Given the description of an element on the screen output the (x, y) to click on. 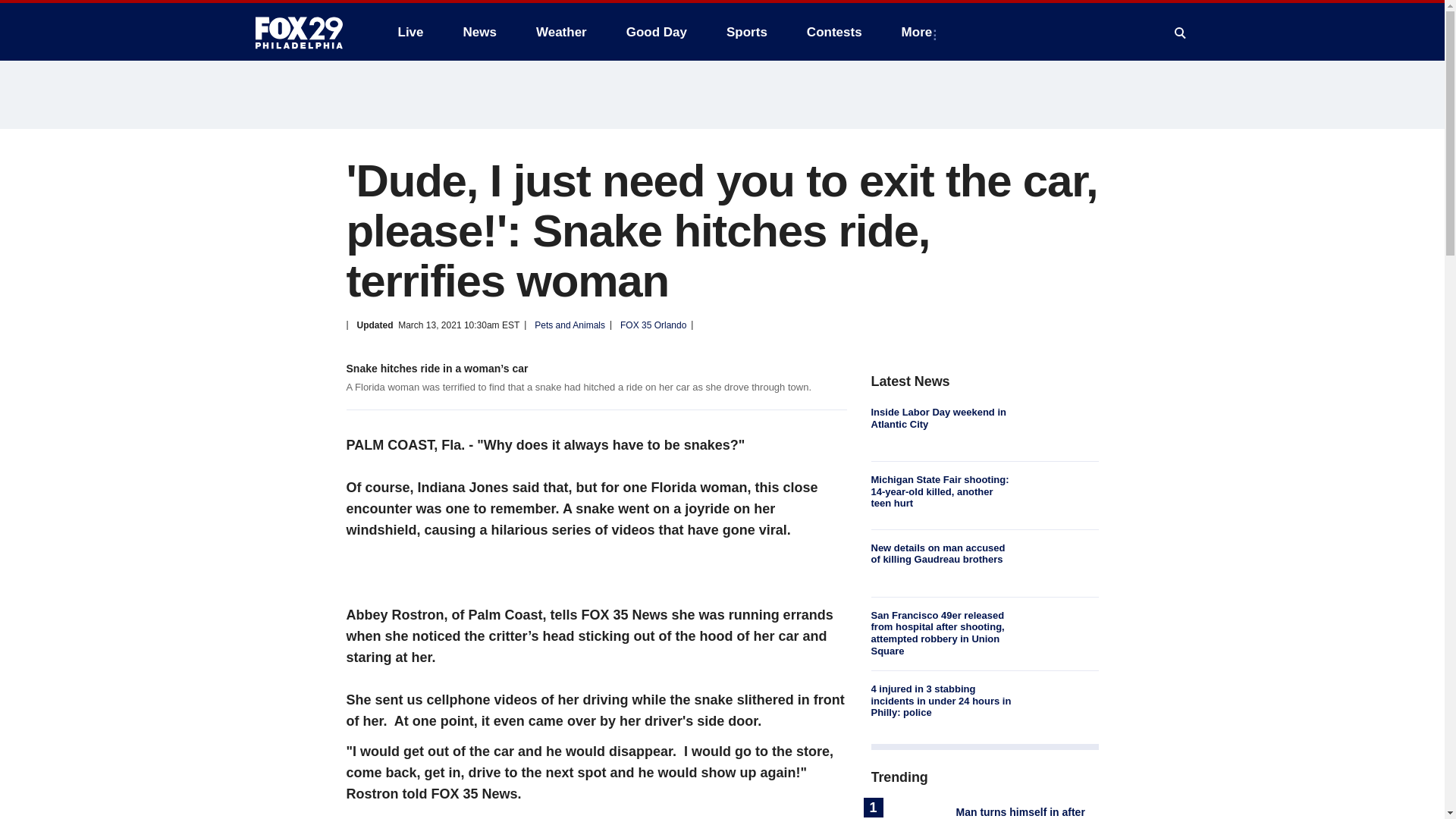
Contests (834, 32)
Sports (746, 32)
Live (410, 32)
Weather (561, 32)
Good Day (656, 32)
News (479, 32)
More (919, 32)
